Given the description of an element on the screen output the (x, y) to click on. 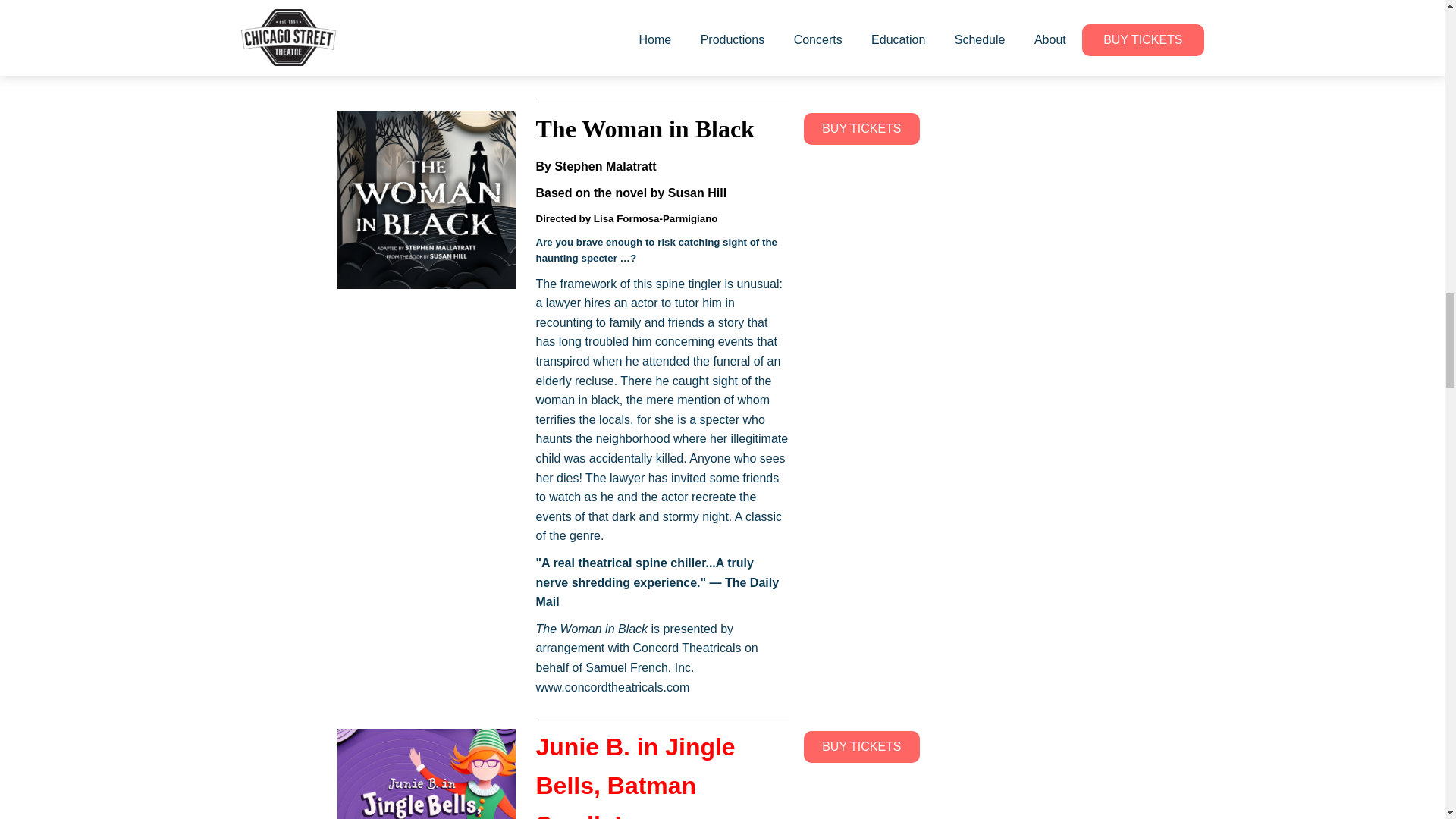
BUY TICKETS (860, 746)
BUY TICKETS (860, 128)
